Given the description of an element on the screen output the (x, y) to click on. 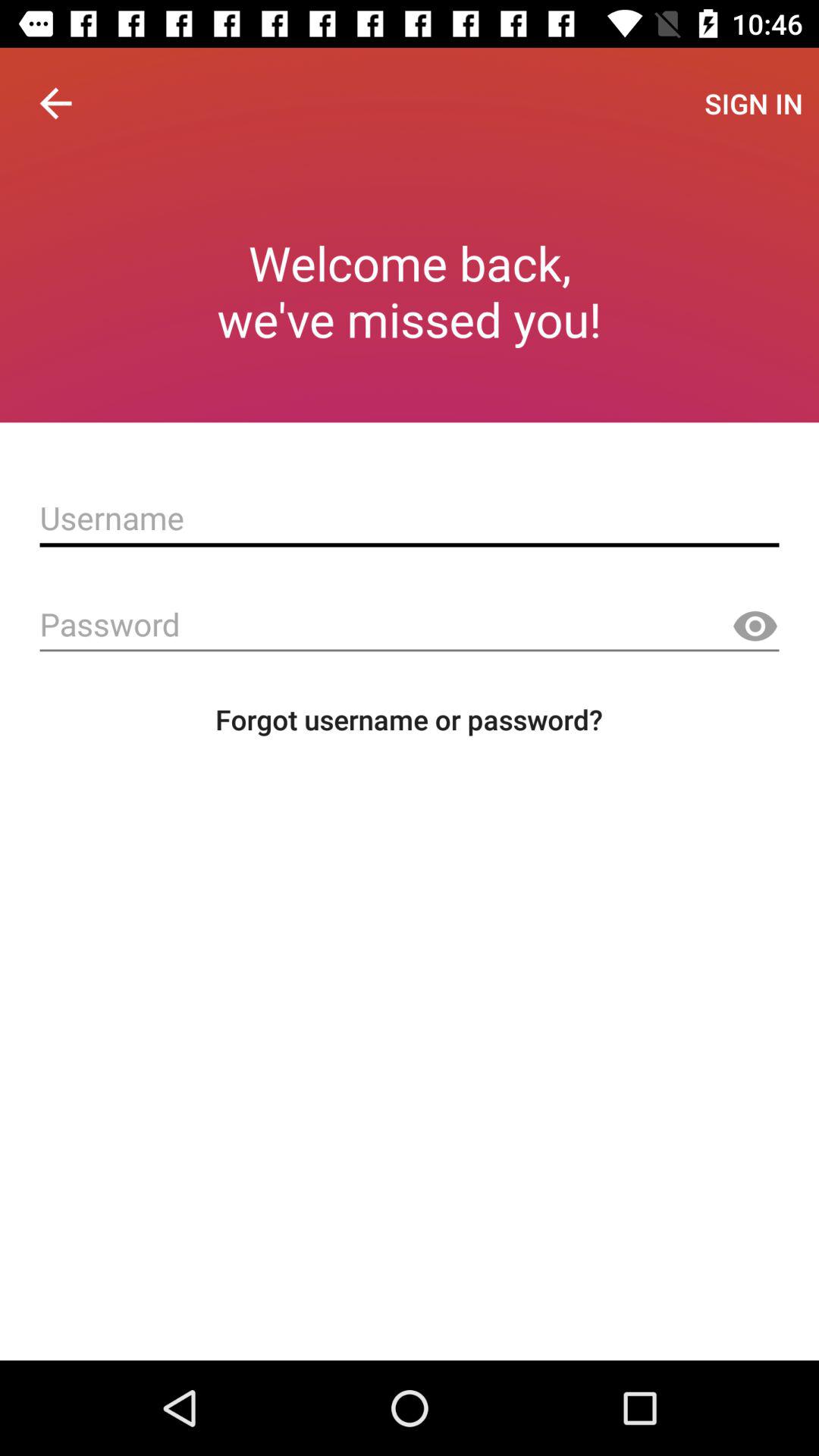
ask the password (409, 624)
